Given the description of an element on the screen output the (x, y) to click on. 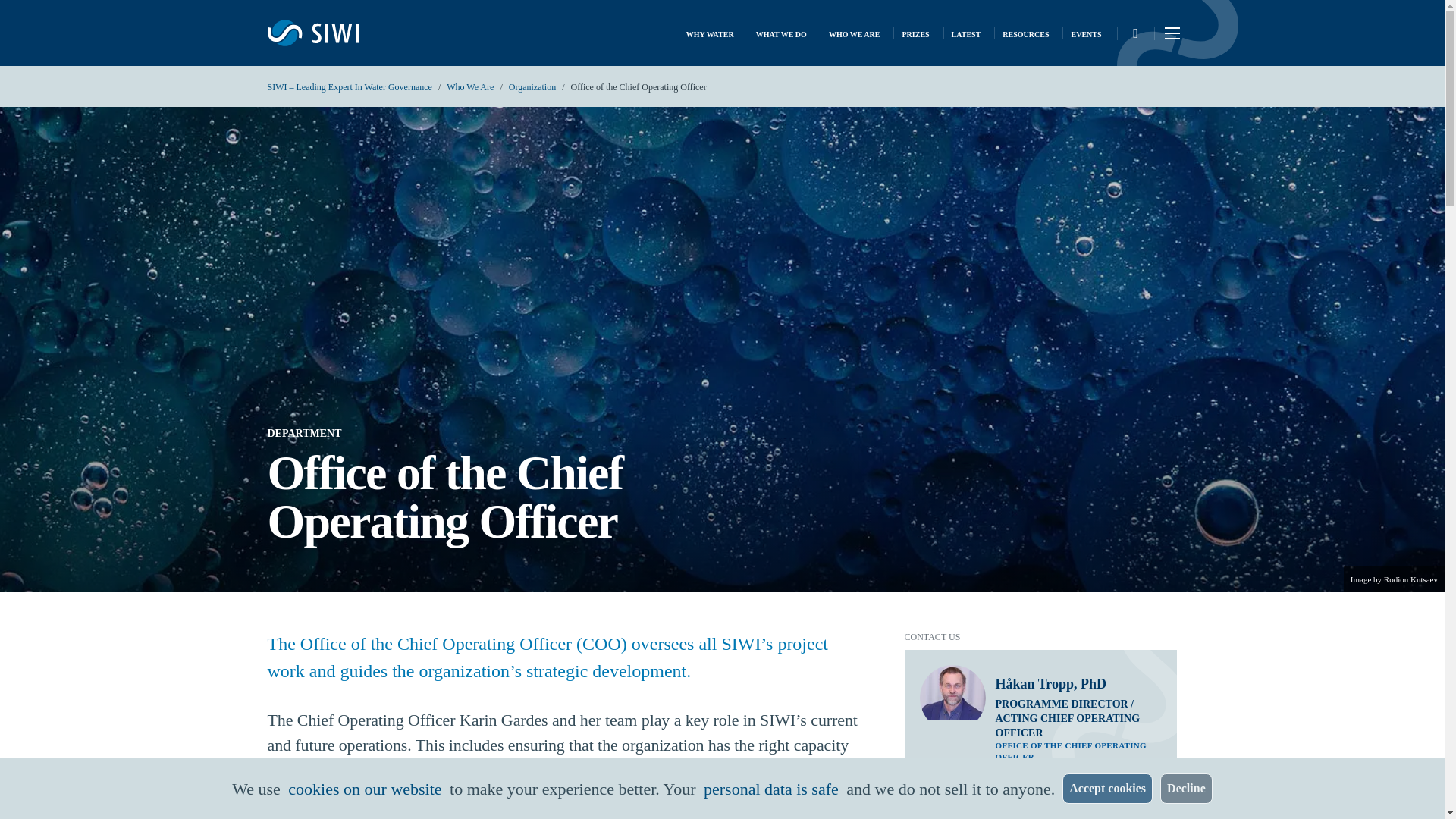
WHY WATER (709, 34)
WHAT WE DO (780, 34)
WHO WE ARE (854, 34)
RESOURCES (1025, 34)
EVENTS (1085, 34)
PRIZES (914, 34)
Skip to content. (25, 13)
LATEST (966, 34)
Search Icon (1134, 32)
